Given the description of an element on the screen output the (x, y) to click on. 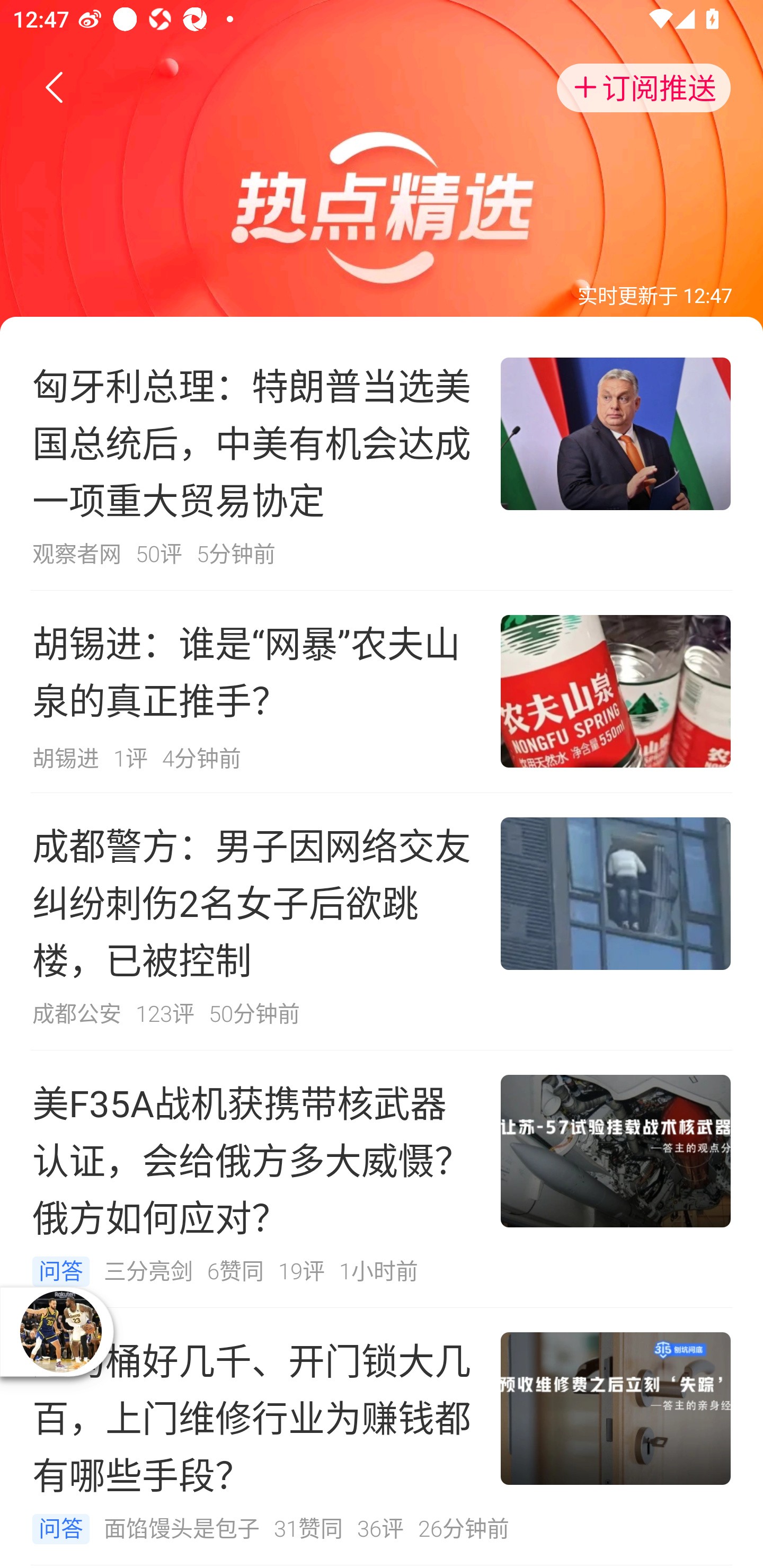
 订阅推送 实时更新于 12:47 (381, 166)
 返回 (54, 87)
 订阅推送 (643, 88)
匈牙利总理：特朗普当选美国总统后，中美有机会达成一项重大贸易协定 观察者网 50评 5分钟前 (381, 460)
胡锡进：谁是“网暴”农夫山泉的真正推手？ 胡锡进 1评 4分钟前 (381, 691)
成都警方：男子因网络交友纠纷刺伤2名女子后欲跳楼，已被控制 成都公安 123评 50分钟前 (381, 921)
播放器 (60, 1331)
